Given the description of an element on the screen output the (x, y) to click on. 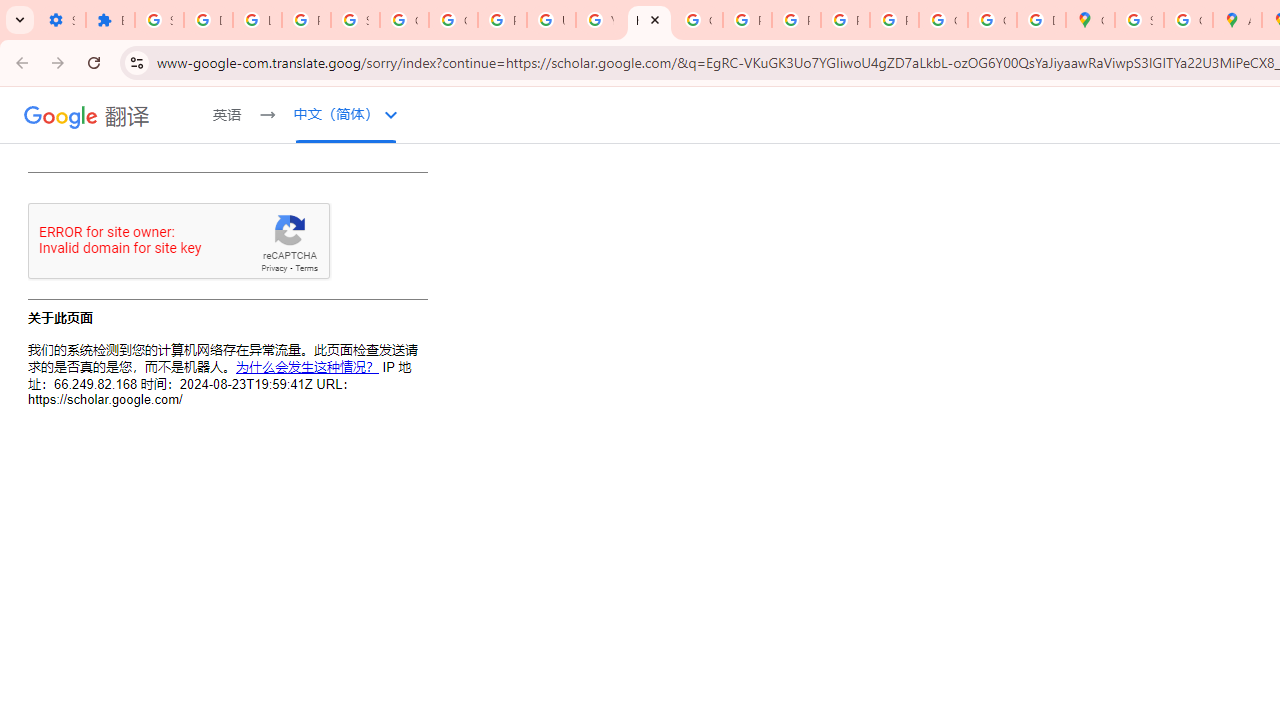
Google Account Help (452, 20)
